Given the description of an element on the screen output the (x, y) to click on. 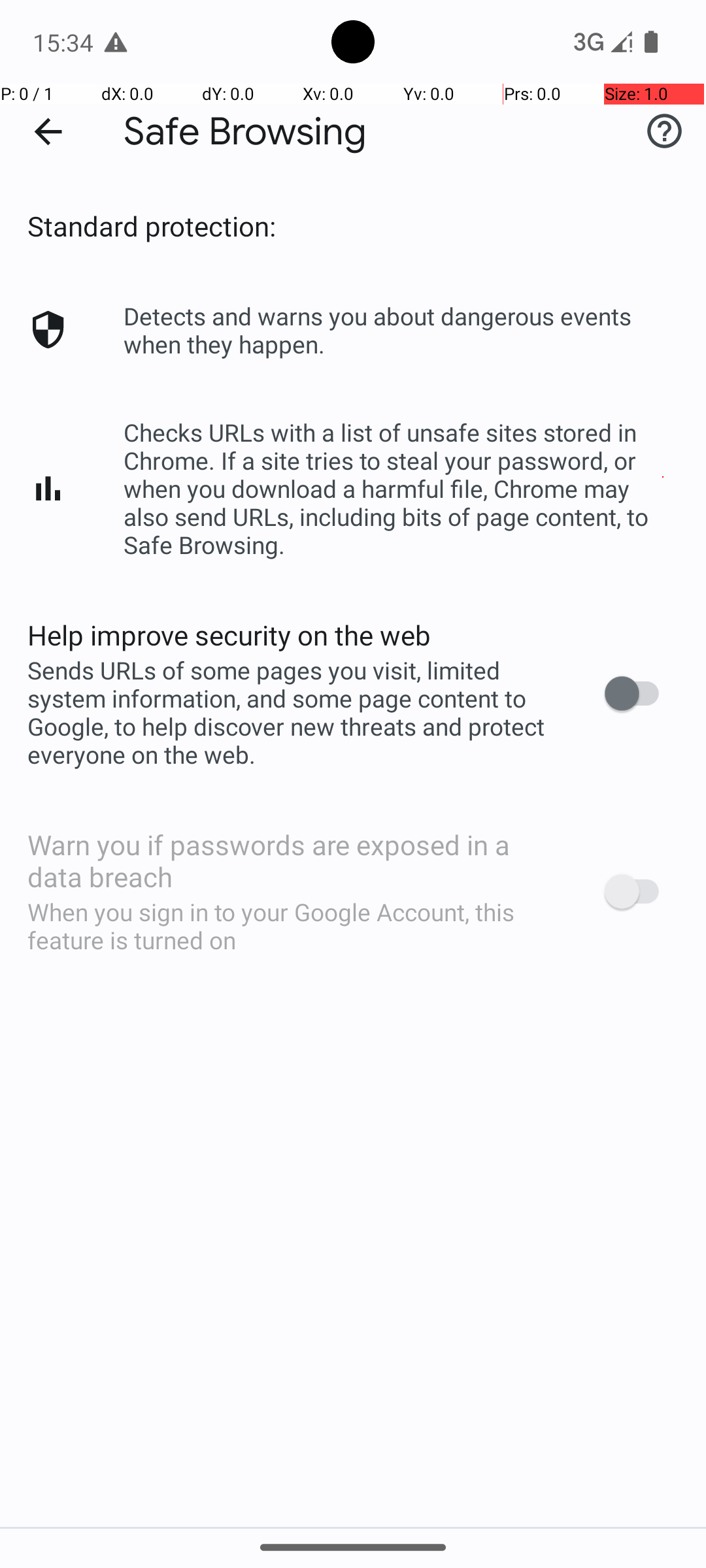
Safe Browsing Element type: android.widget.TextView (244, 131)
Help & feedback Element type: android.widget.Button (664, 131)
Standard protection: Element type: android.widget.TextView (151, 225)
Detects and warns you about dangerous events when they happen. Element type: android.widget.TextView (400, 329)
Checks URLs with a list of unsafe sites stored in Chrome. If a site tries to steal your password, or when you download a harmful file, Chrome may also send URLs, including bits of page content, to Safe Browsing. Element type: android.widget.TextView (400, 488)
Help improve security on the web Element type: android.widget.TextView (229, 634)
Sends URLs of some pages you visit, limited system information, and some page content to Google, to help discover new threats and protect everyone on the web. Element type: android.widget.TextView (297, 711)
Warn you if passwords are exposed in a data breach Element type: android.widget.TextView (297, 860)
When you sign in to your Google Account, this feature is turned on Element type: android.widget.TextView (297, 925)
